Given the description of an element on the screen output the (x, y) to click on. 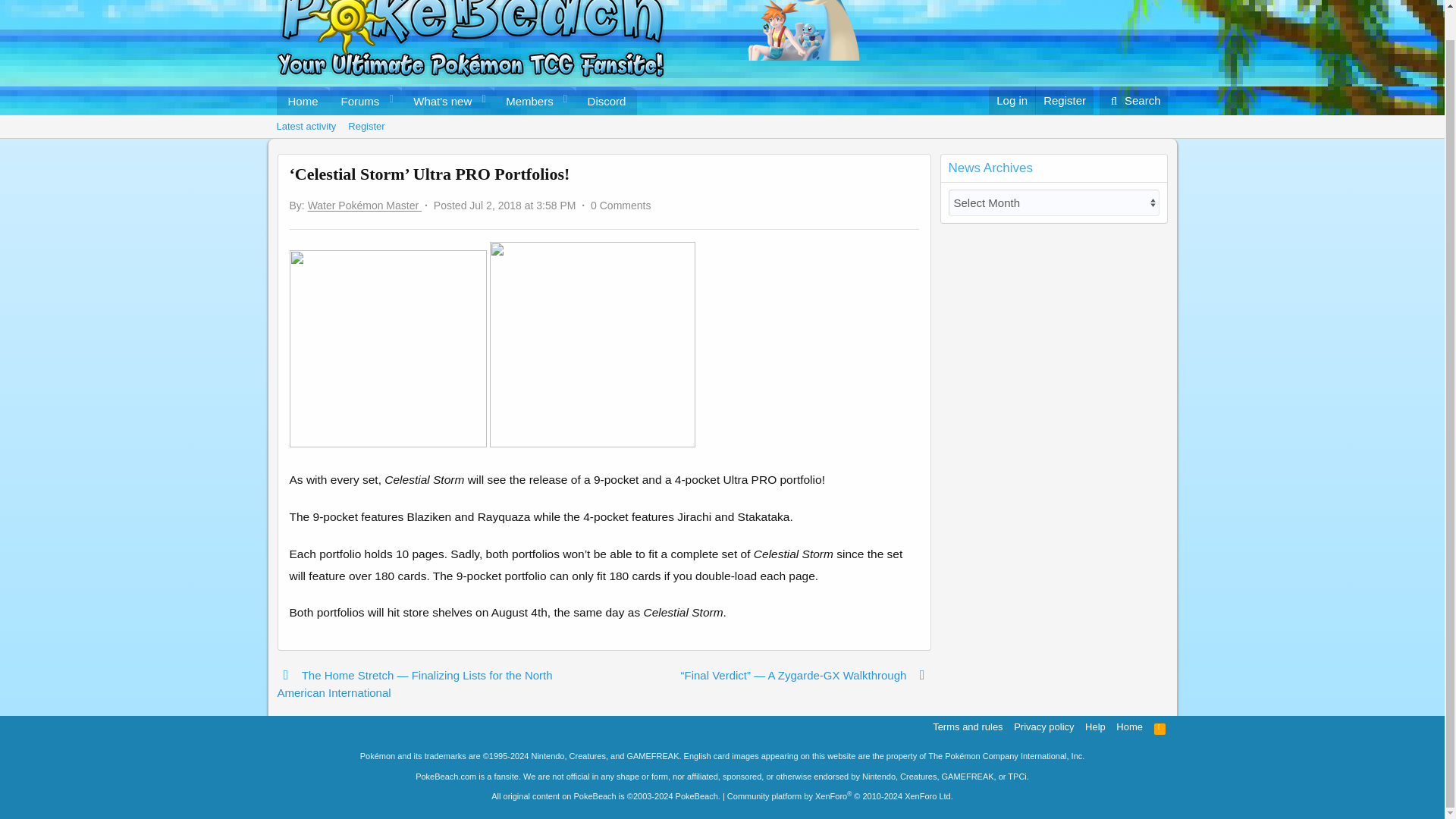
Home (302, 100)
Members (456, 100)
Register (524, 100)
0 Comments (1064, 100)
Search (620, 205)
Jul 2, 2018 at 3:58 PM (721, 126)
Register (1134, 100)
